Given the description of an element on the screen output the (x, y) to click on. 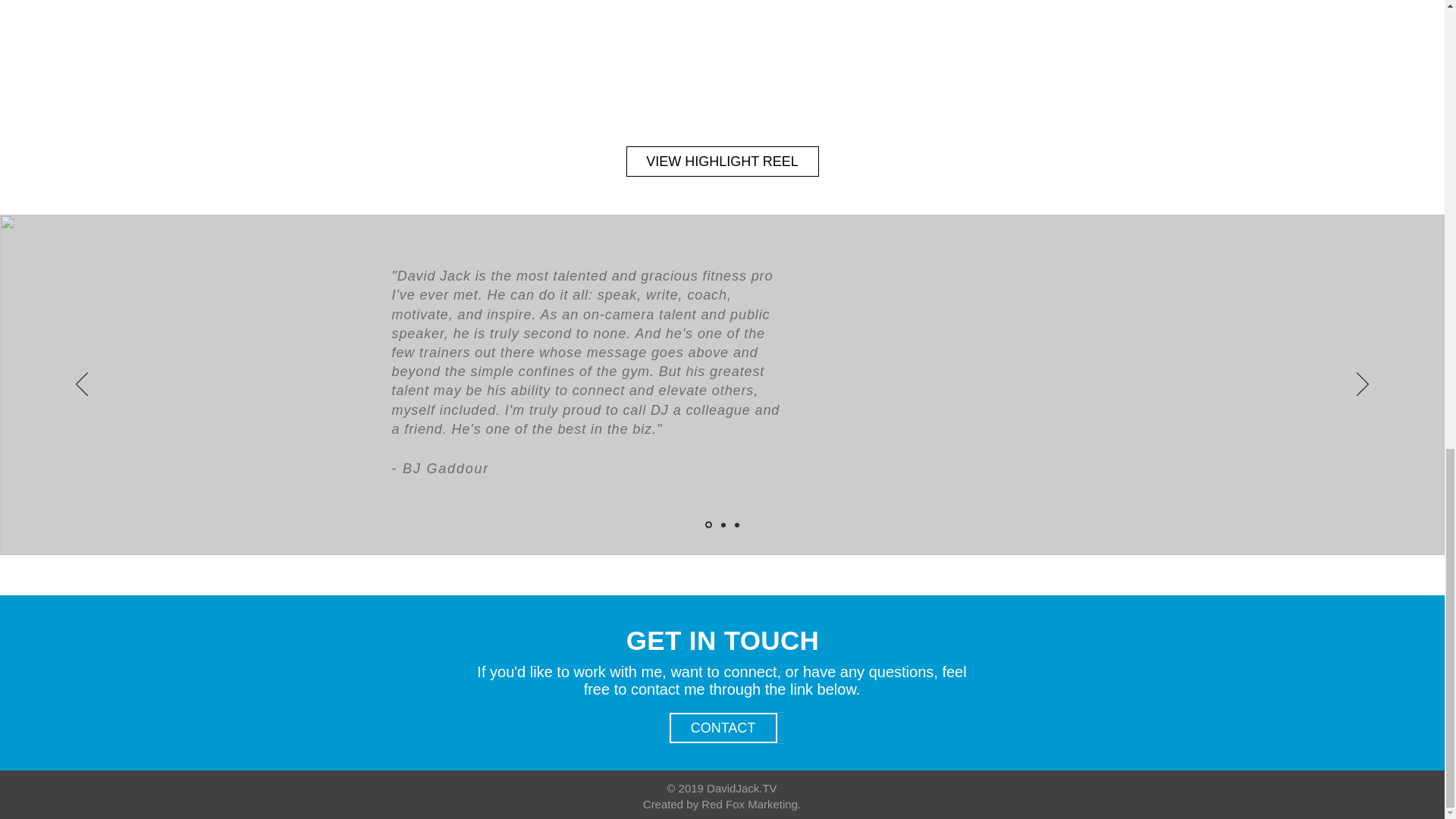
reated by Red Fox Marketing. (726, 803)
VIEW HIGHLIGHT REEL (722, 161)
CONTACT (722, 727)
